Given the description of an element on the screen output the (x, y) to click on. 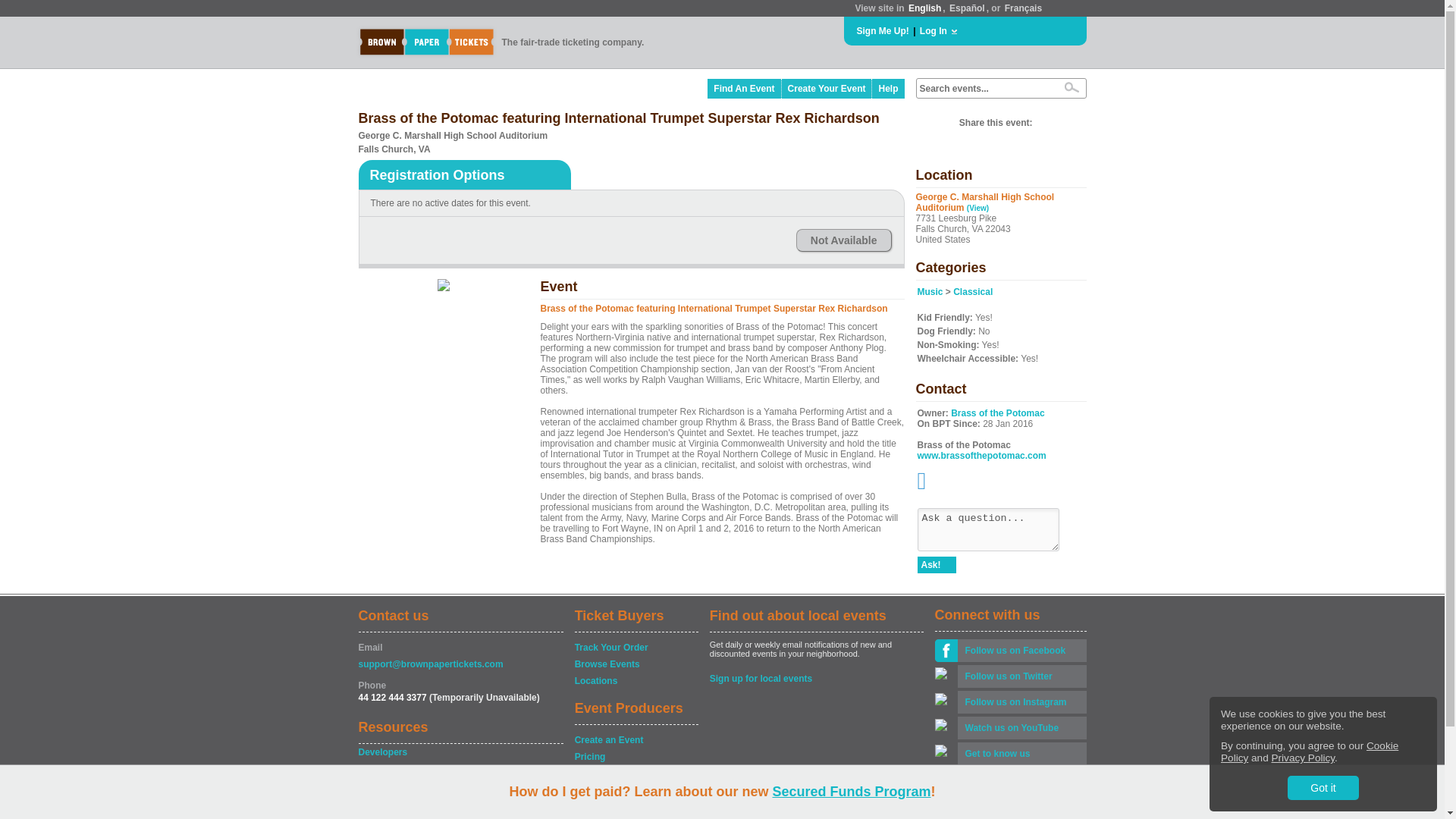
Sign up for local events (816, 678)
Got it (1322, 787)
Secured Funds Program (850, 791)
Locations (636, 680)
Browse Events (636, 663)
Services (636, 773)
Classical (972, 291)
Not Available (843, 240)
English (924, 8)
Developers (460, 752)
